Given the description of an element on the screen output the (x, y) to click on. 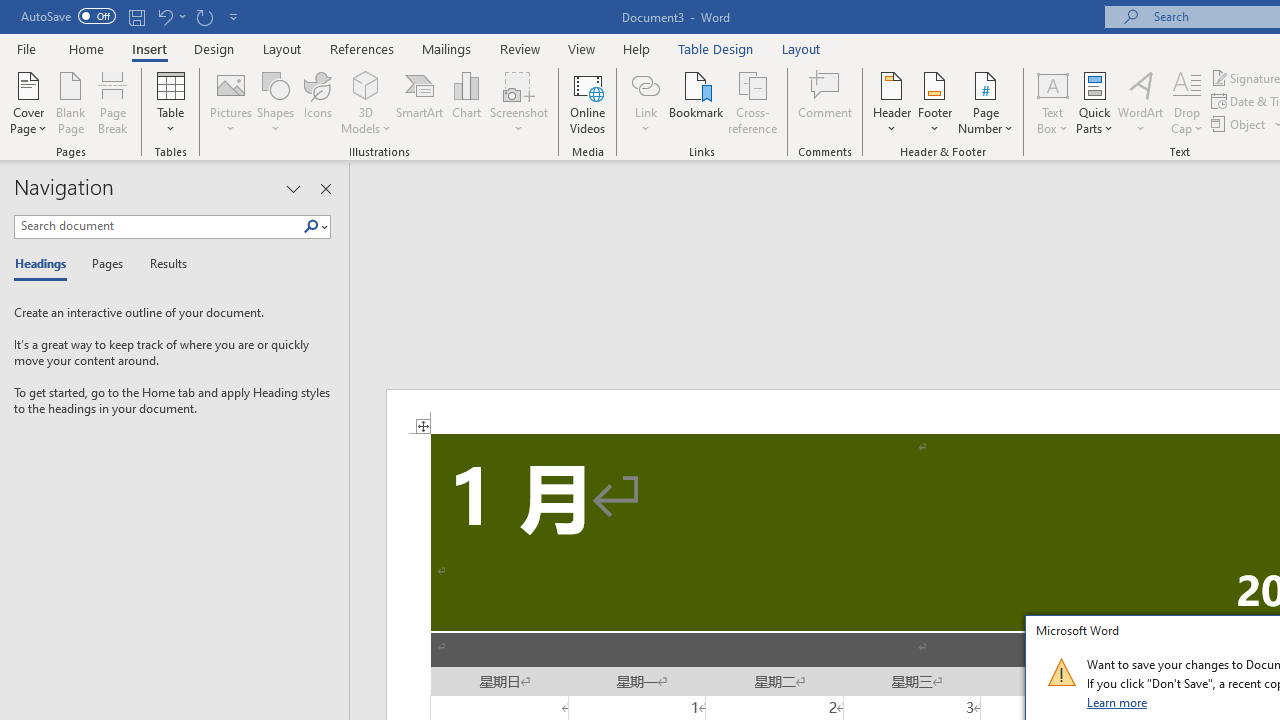
Page Number (986, 102)
Text Box (1052, 102)
Page Break (113, 102)
Drop Cap (1187, 102)
